Given the description of an element on the screen output the (x, y) to click on. 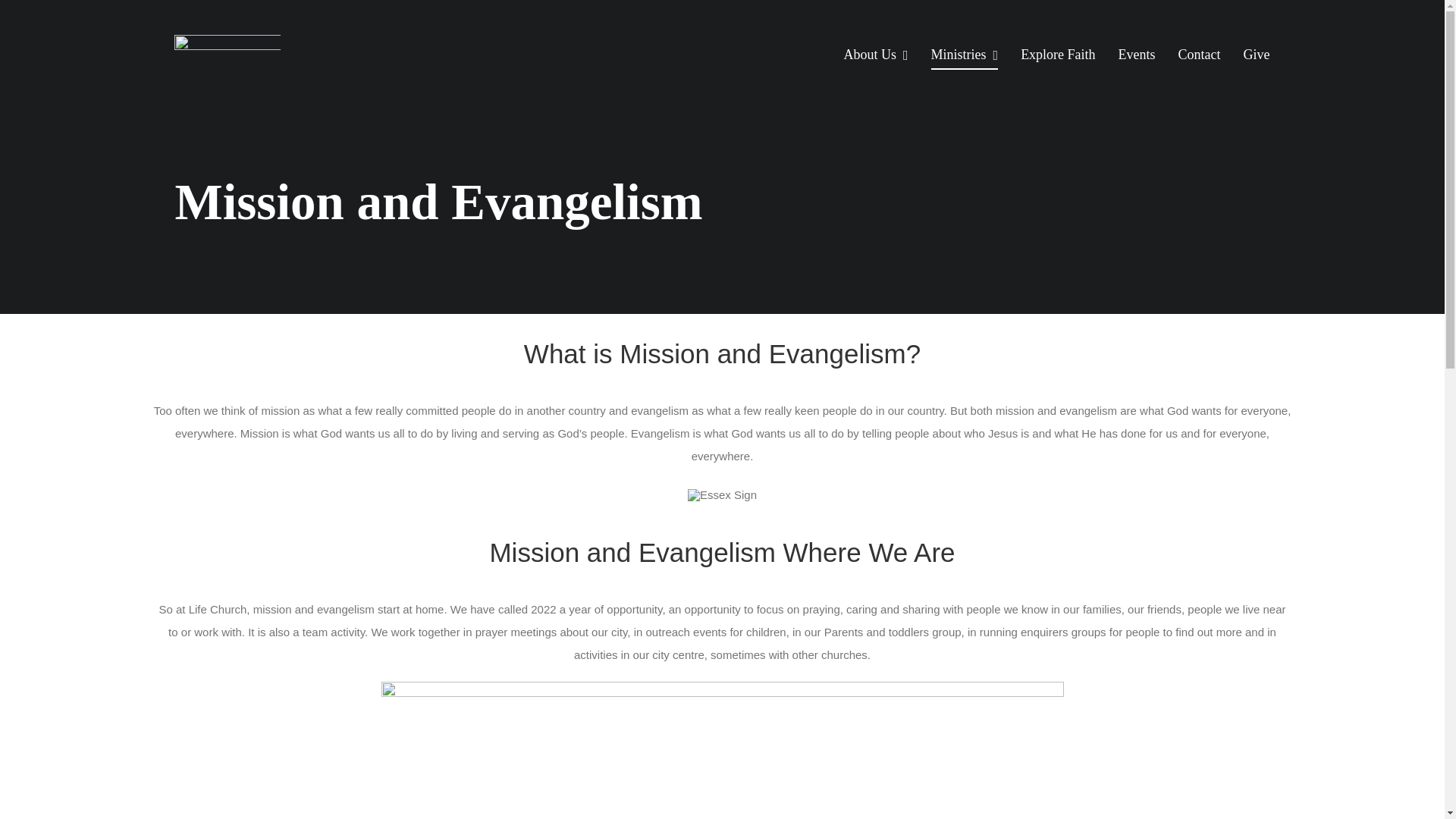
Contact (1199, 55)
Events (1137, 55)
Ministries (964, 55)
About Us (875, 55)
Explore Faith (1057, 55)
Give (1256, 55)
London Image (722, 494)
Essex Sign (721, 750)
